Given the description of an element on the screen output the (x, y) to click on. 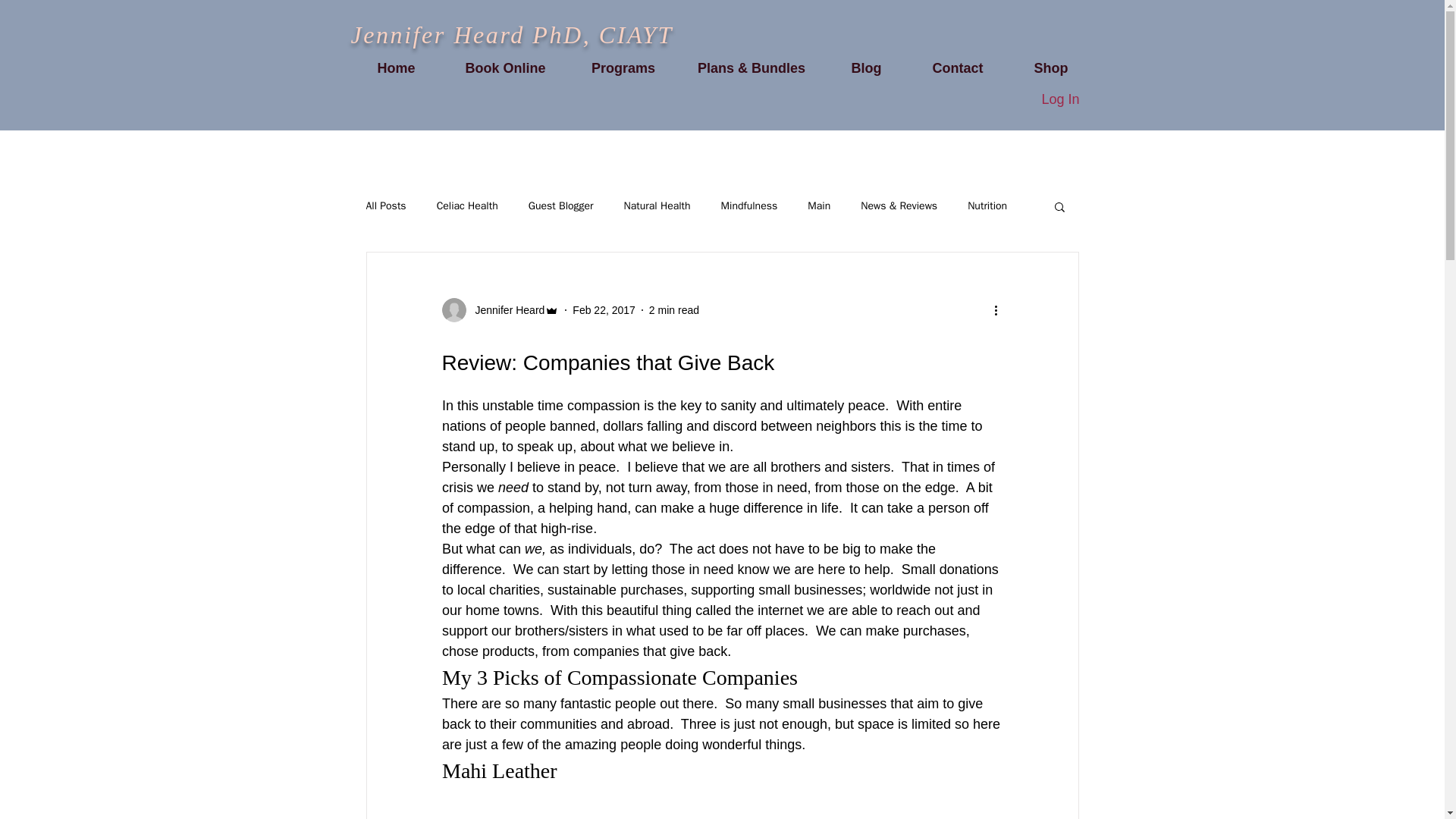
Programs (623, 68)
2 min read (673, 309)
Jennifer Heard (504, 309)
Book Online (505, 68)
Feb 22, 2017 (603, 309)
Celiac Health (466, 205)
Natural Health (657, 205)
Contact (957, 68)
Mindfulness (748, 205)
Shop (1051, 68)
Blog (866, 68)
Main (818, 205)
All Posts (385, 205)
Nutrition (987, 205)
Log In (1059, 100)
